Given the description of an element on the screen output the (x, y) to click on. 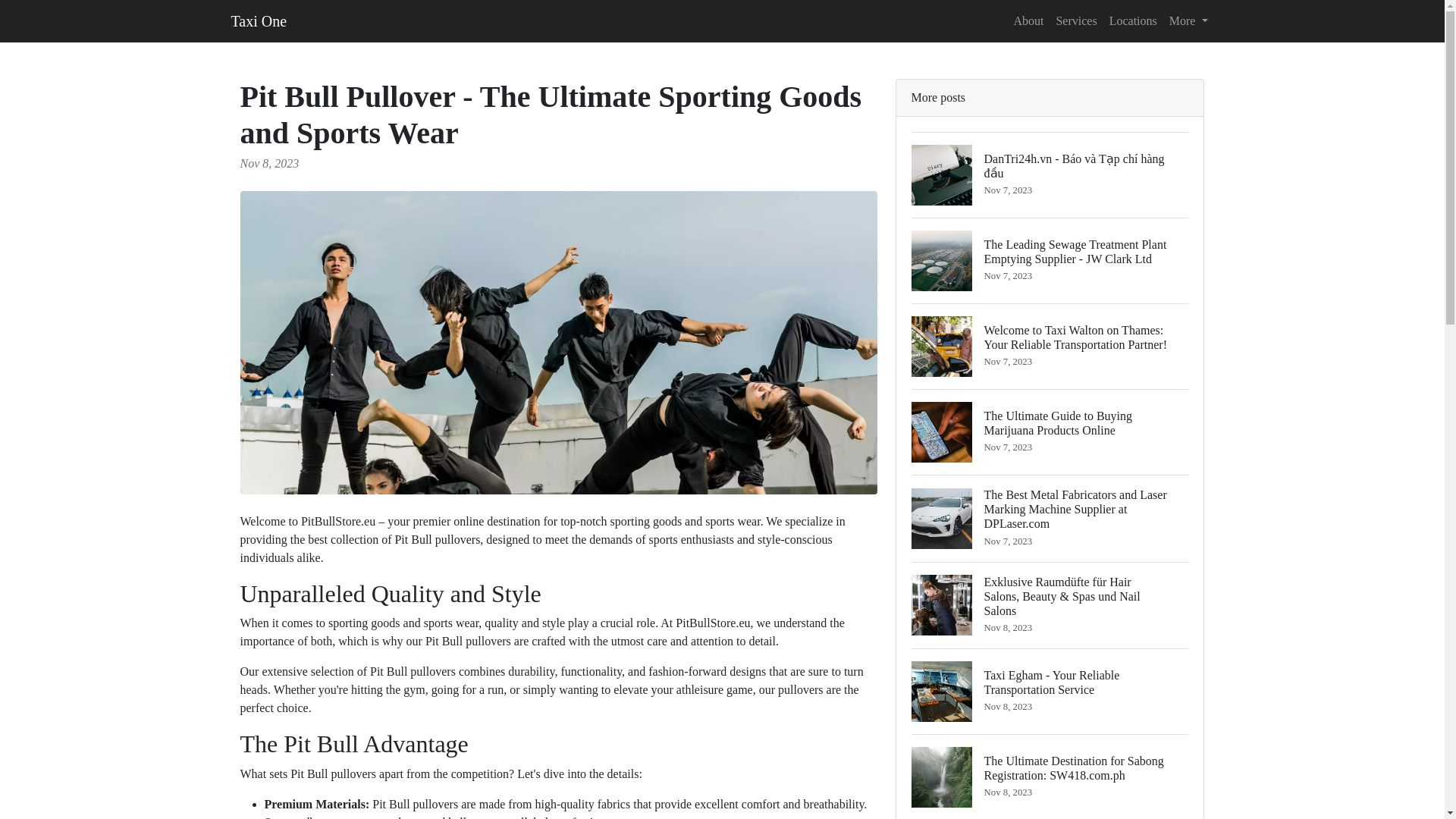
Locations (1133, 20)
Pit Bull pullover (435, 539)
About (1028, 20)
Services (1075, 20)
More (1188, 20)
